Given the description of an element on the screen output the (x, y) to click on. 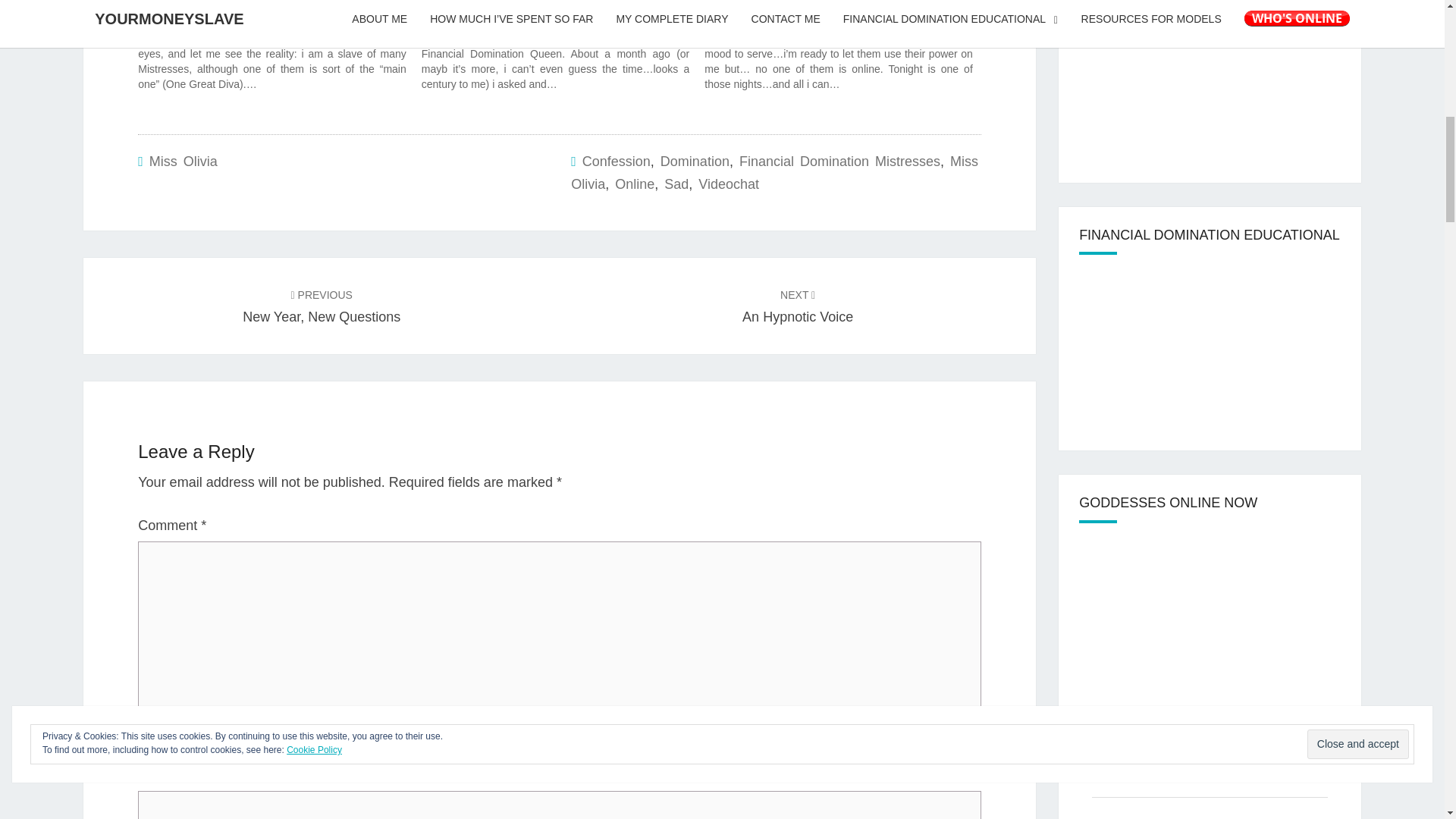
Miss Olivia (182, 160)
Online (633, 183)
Financial Domination Mistresses (839, 160)
Domination (695, 160)
Miss Olivia (774, 172)
Starting to miss my Financial Domme (509, 8)
Slave of many Mistresses (198, 8)
Sad (675, 183)
Confession (616, 160)
